Given the description of an element on the screen output the (x, y) to click on. 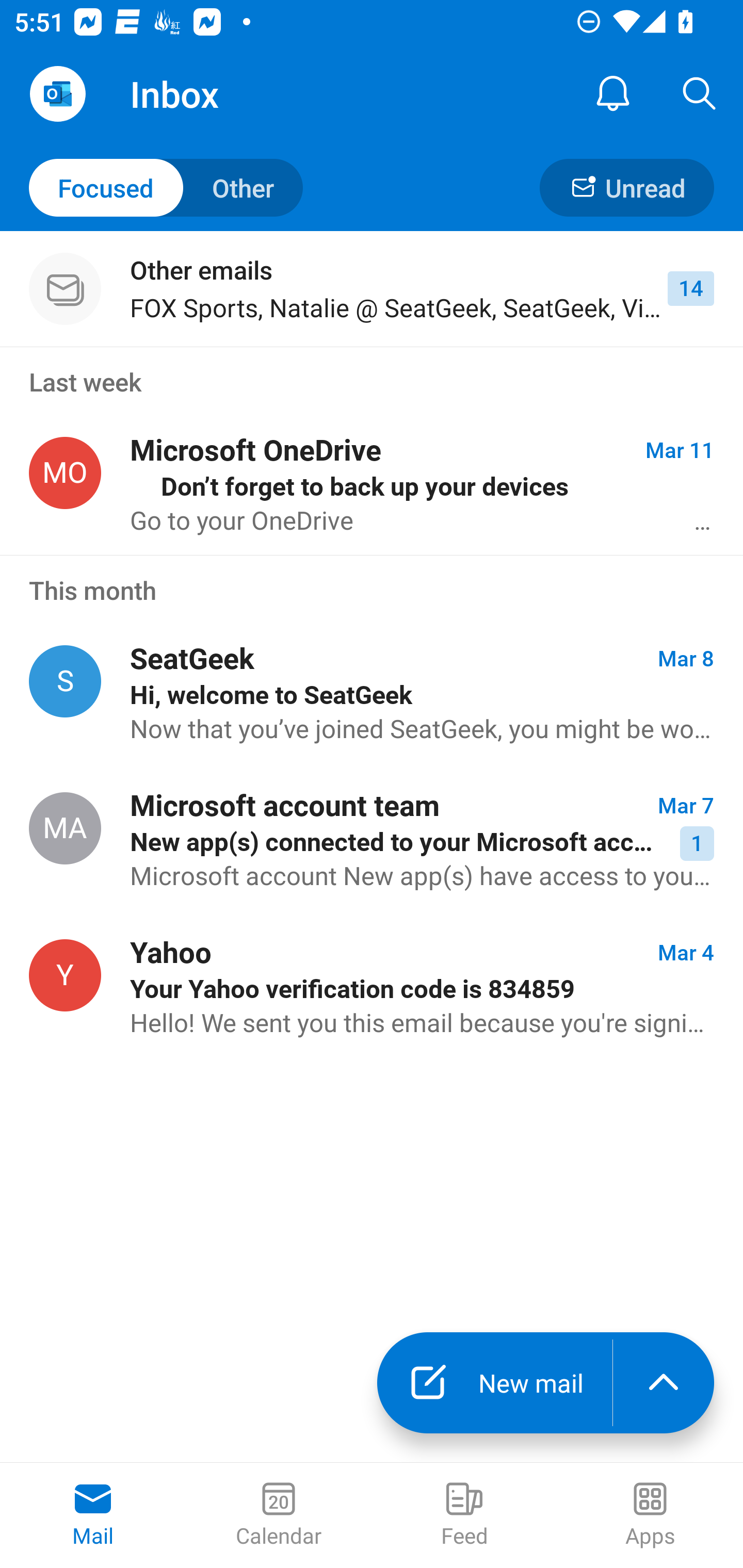
Notification Center (612, 93)
Search, ,  (699, 93)
Open Navigation Drawer (57, 94)
Toggle to other mails (165, 187)
SeatGeek, events@seatgeek.com (64, 682)
Yahoo, no-reply@cc.yahoo-inc.com (64, 975)
New mail (494, 1382)
launch the extended action menu (663, 1382)
Calendar (278, 1515)
Feed (464, 1515)
Apps (650, 1515)
